Given the description of an element on the screen output the (x, y) to click on. 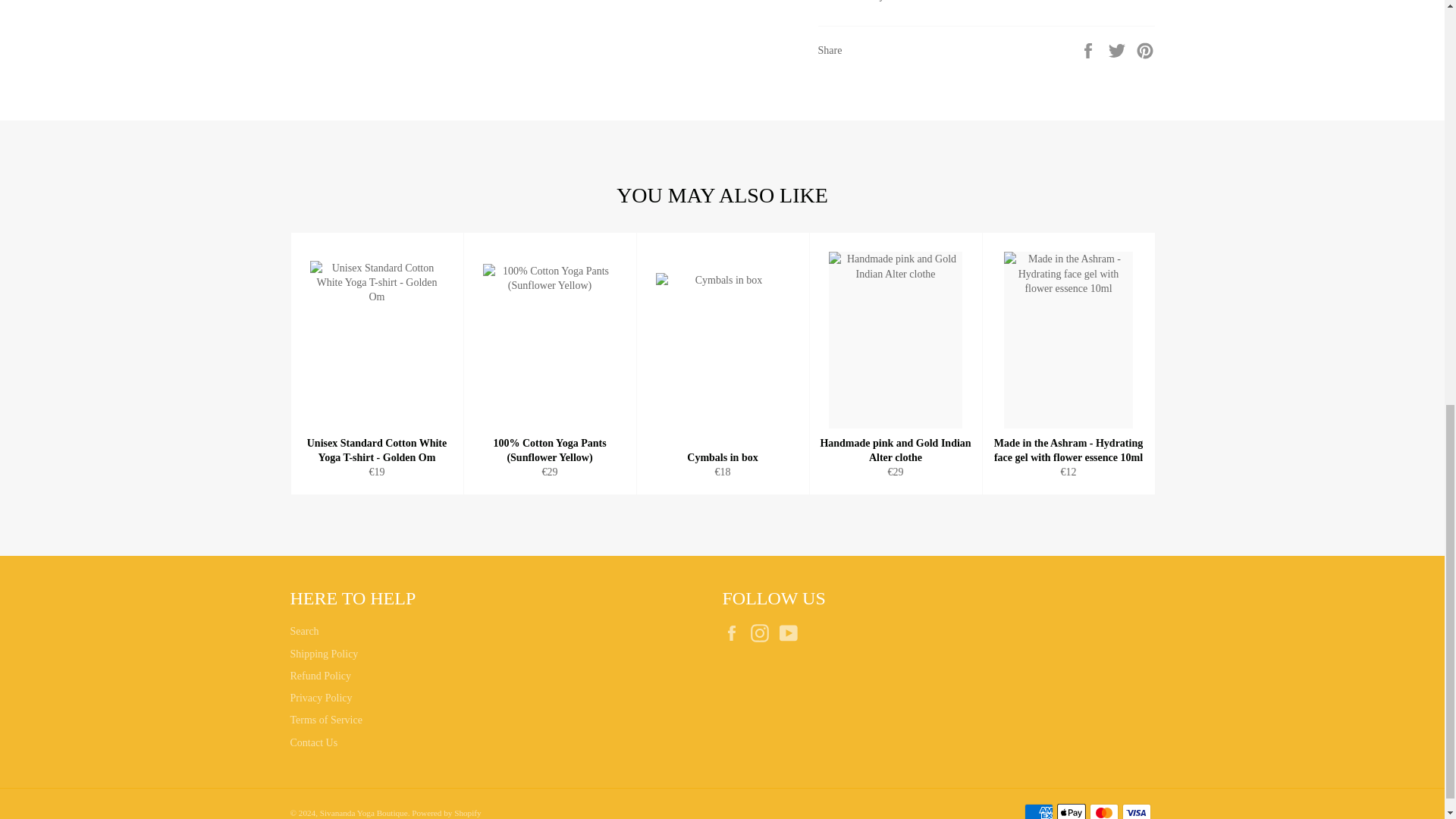
Pin on Pinterest (1144, 49)
Share on Facebook (1089, 49)
Sivananda Yoga Boutique on Facebook (735, 633)
Tweet on Twitter (1118, 49)
Sivananda Yoga Boutique on Instagram (763, 633)
Sivananda Yoga Boutique on YouTube (791, 633)
